Given the description of an element on the screen output the (x, y) to click on. 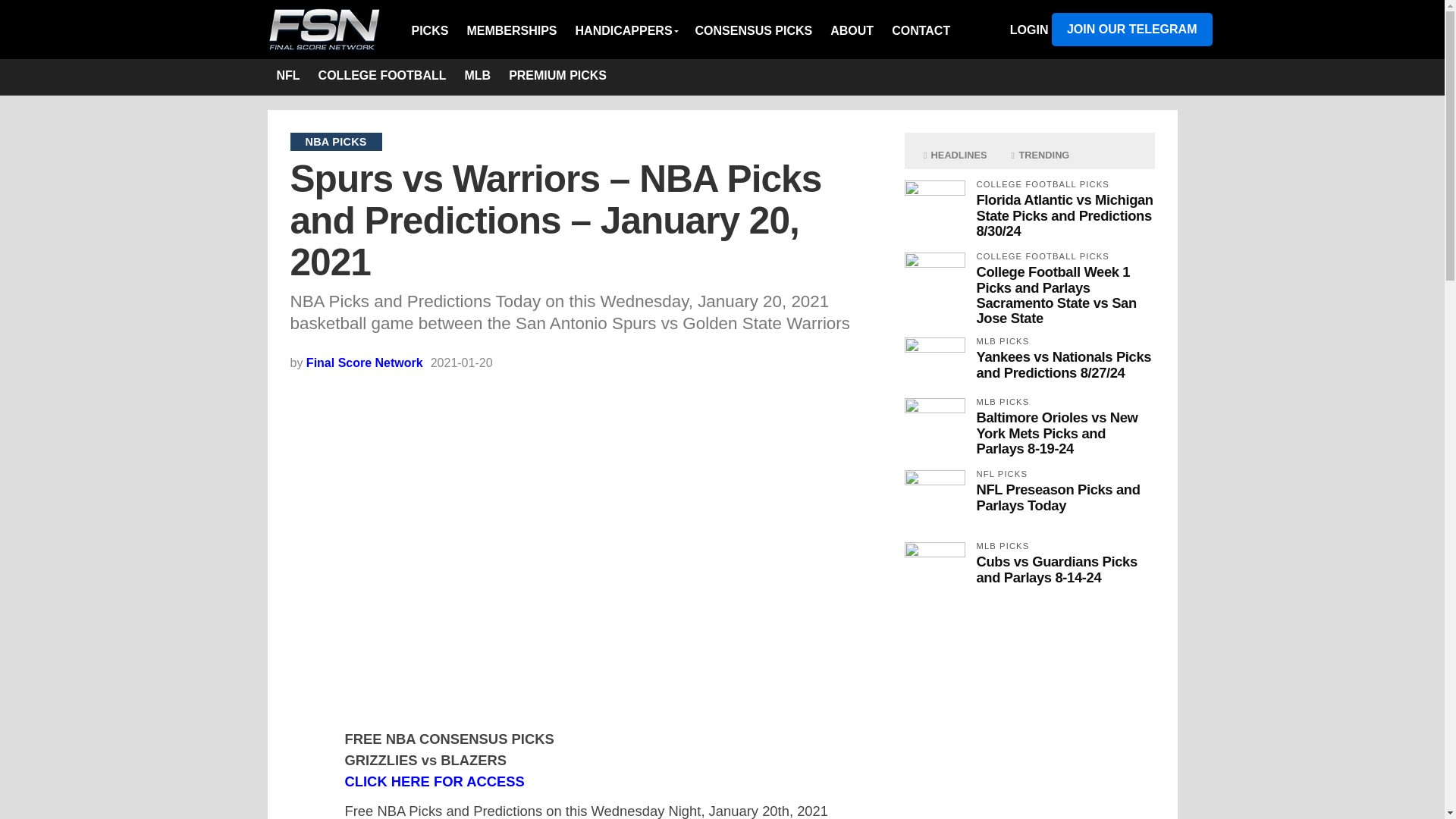
JOIN OUR TELEGRAM (1131, 29)
ABOUT (851, 30)
NFL (287, 76)
HANDICAPPERS (625, 30)
CONTACT (920, 30)
PICKS (433, 30)
Posts by Final Score Network (364, 362)
COLLEGE FOOTBALL (381, 76)
MEMBERSHIPS (511, 30)
